Given the description of an element on the screen output the (x, y) to click on. 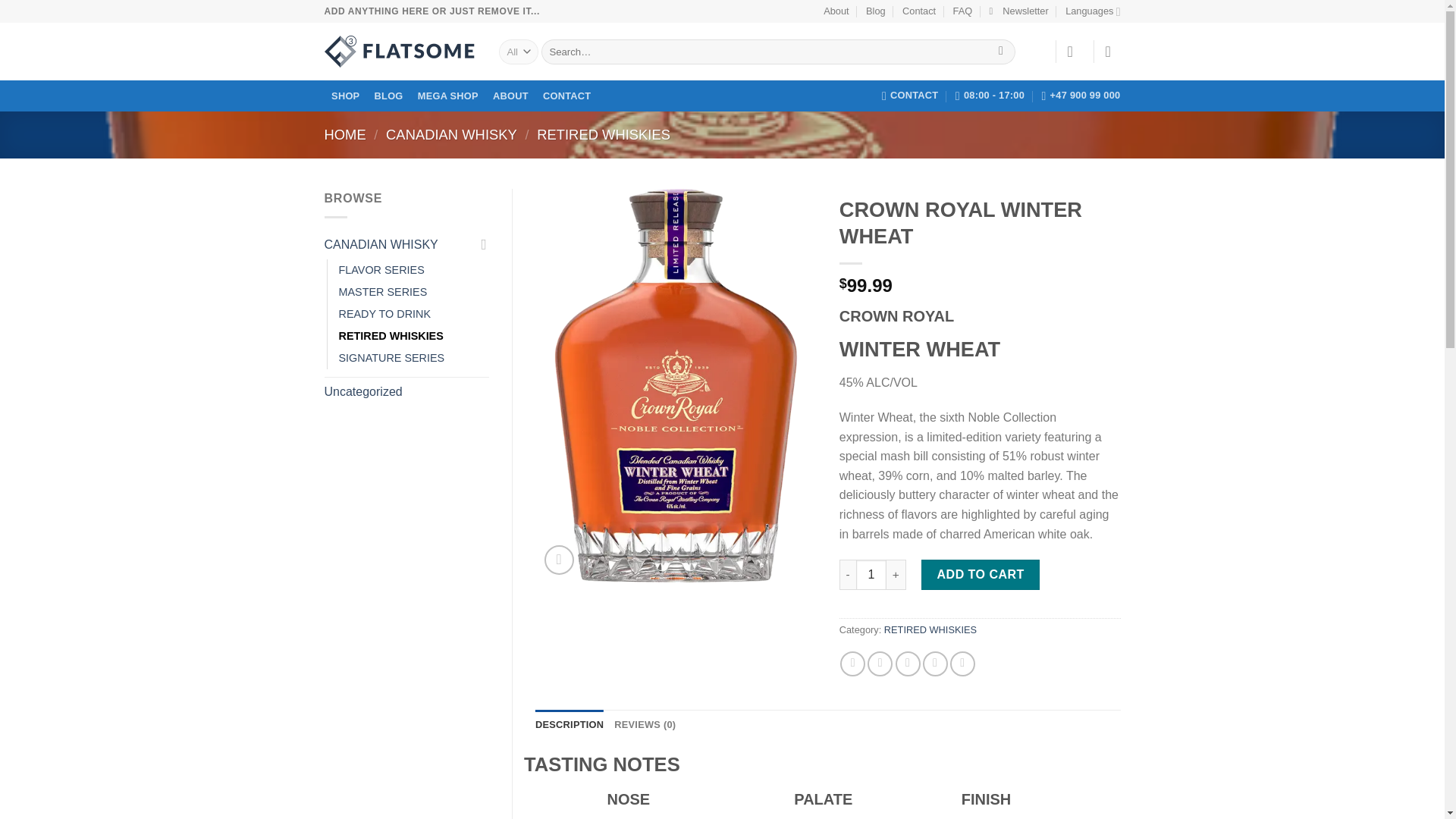
SIGNATURE SERIES (390, 358)
Newsletter (1018, 11)
HOME (345, 134)
08:00 - 17:00  (990, 95)
CONTACT (910, 95)
SHOP (345, 96)
RETIRED WHISKIES (603, 134)
ABOUT (509, 96)
About (836, 11)
1 (871, 574)
CANADIAN WHISKY (399, 244)
Uncategorized (406, 391)
BLOG (388, 96)
READY TO DRINK (383, 314)
Contact (919, 11)
